Given the description of an element on the screen output the (x, y) to click on. 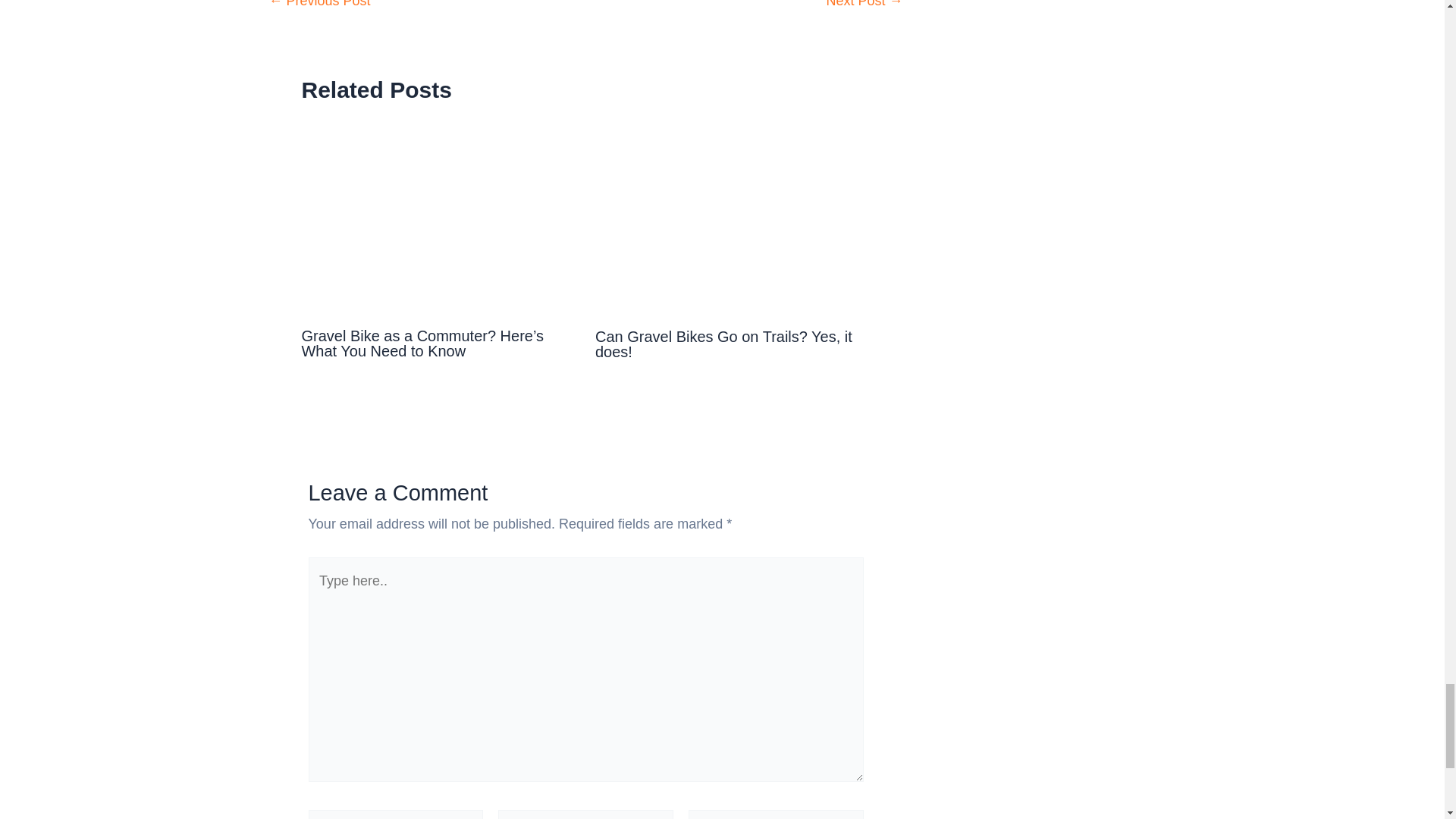
Why flat mount disc brakes? (318, 3)
How many miles can you bikepack in a day? (863, 3)
Can Gravel Bikes Go on Trails? Yes, it does! (723, 344)
